Given the description of an element on the screen output the (x, y) to click on. 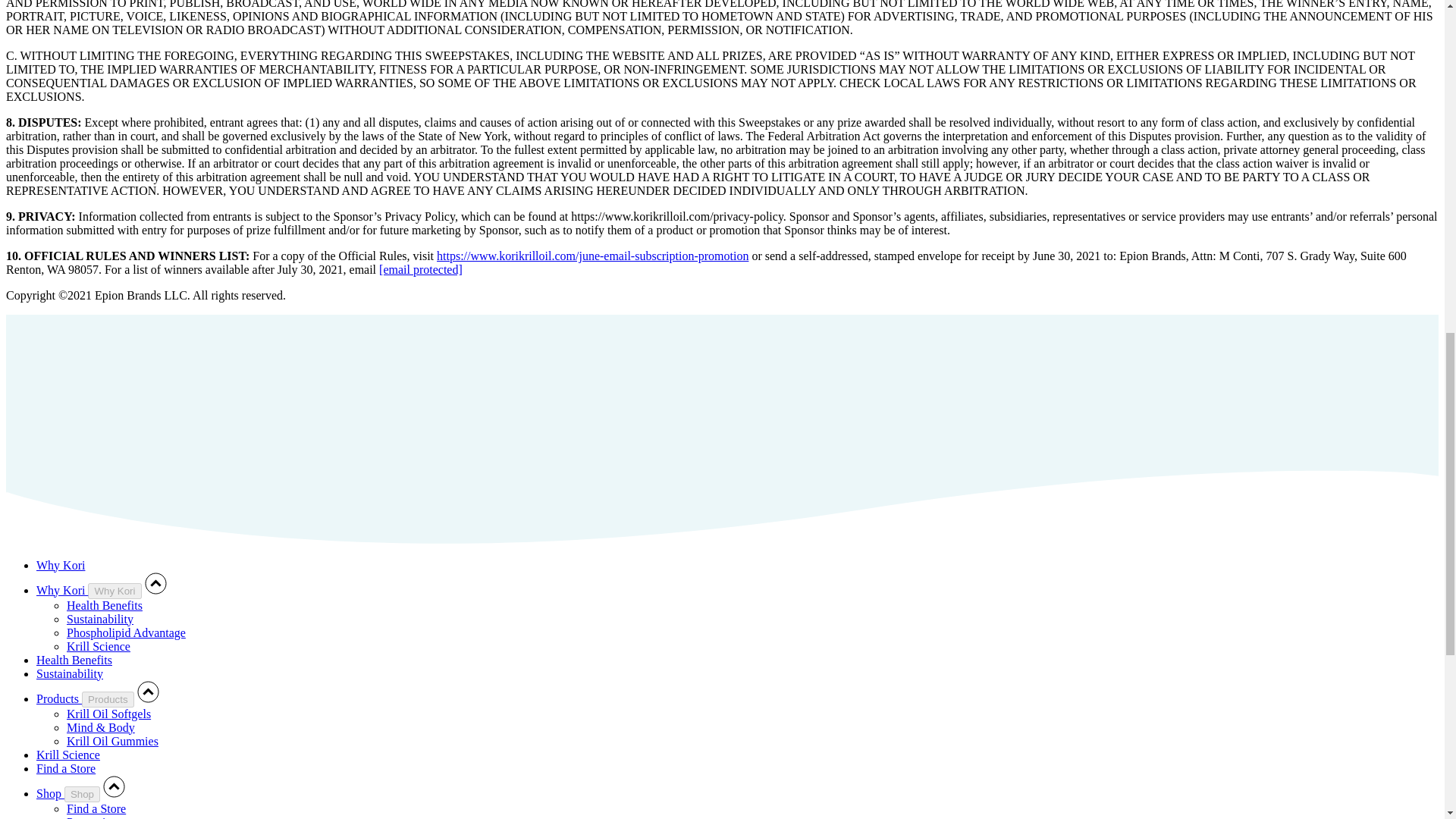
Why Kori (114, 590)
Why Kori (61, 590)
Why Kori (60, 564)
